Given the description of an element on the screen output the (x, y) to click on. 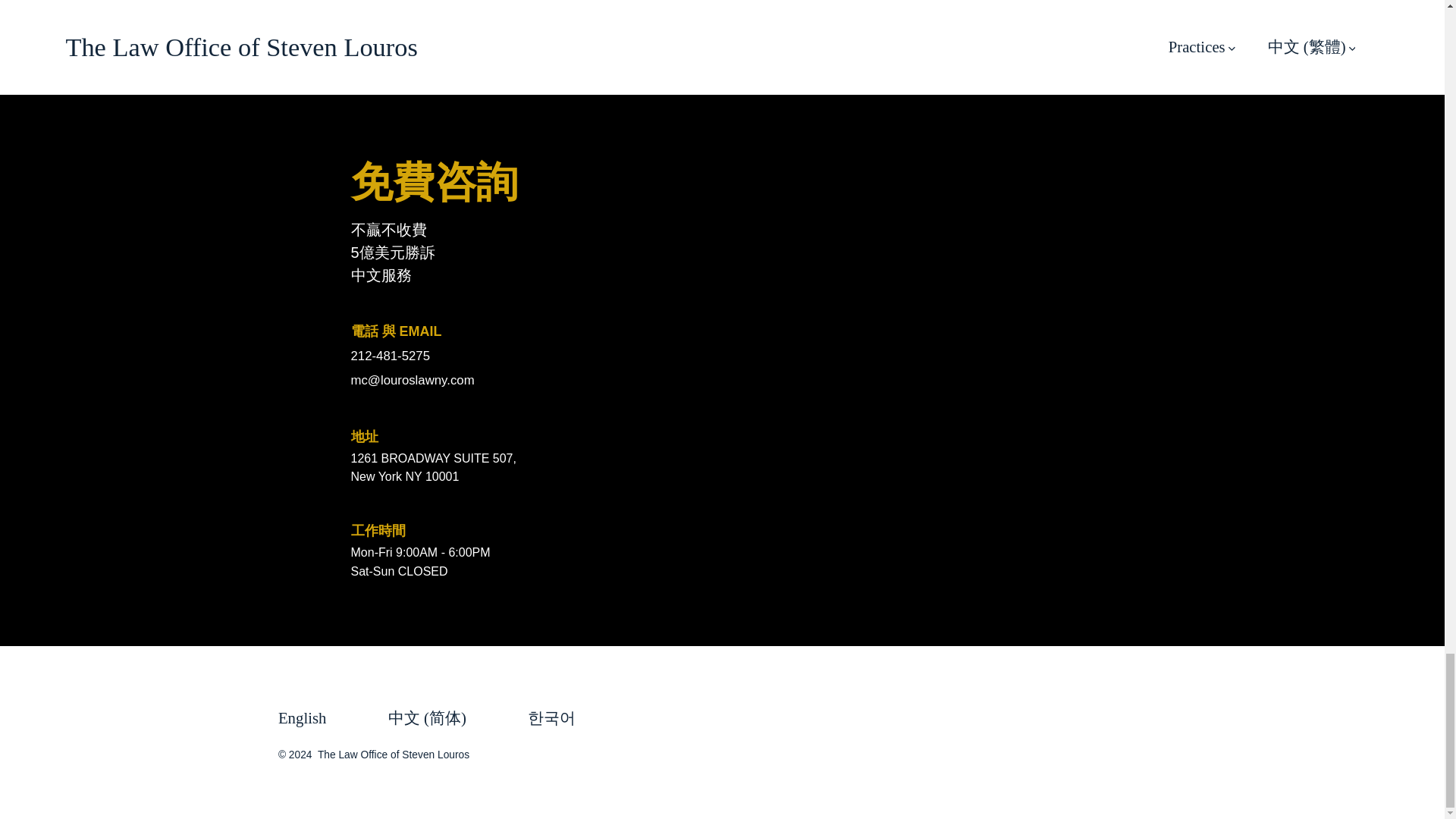
212-481-5275 (536, 355)
English (316, 718)
